Given the description of an element on the screen output the (x, y) to click on. 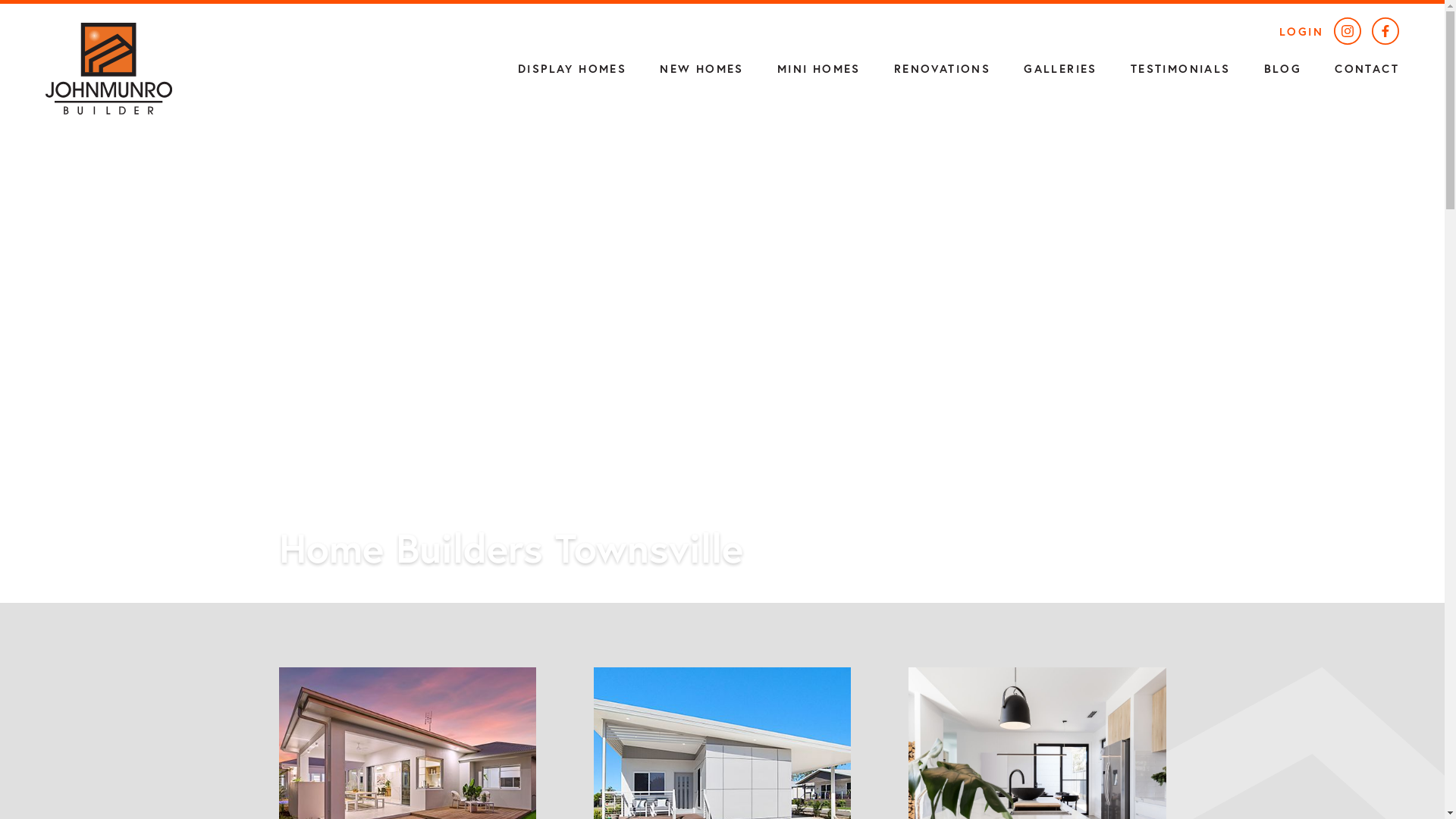
BLOG Element type: text (1282, 67)
RENOVATIONS Element type: text (942, 67)
CONTACT Element type: text (1366, 67)
TESTIMONIALS Element type: text (1180, 67)
facebook Element type: text (1385, 32)
GALLERIES Element type: text (1060, 67)
NEW HOMES Element type: text (701, 67)
MINI HOMES Element type: text (818, 67)
LOGIN Element type: text (1301, 30)
DISPLAY HOMES Element type: text (572, 67)
